Given the description of an element on the screen output the (x, y) to click on. 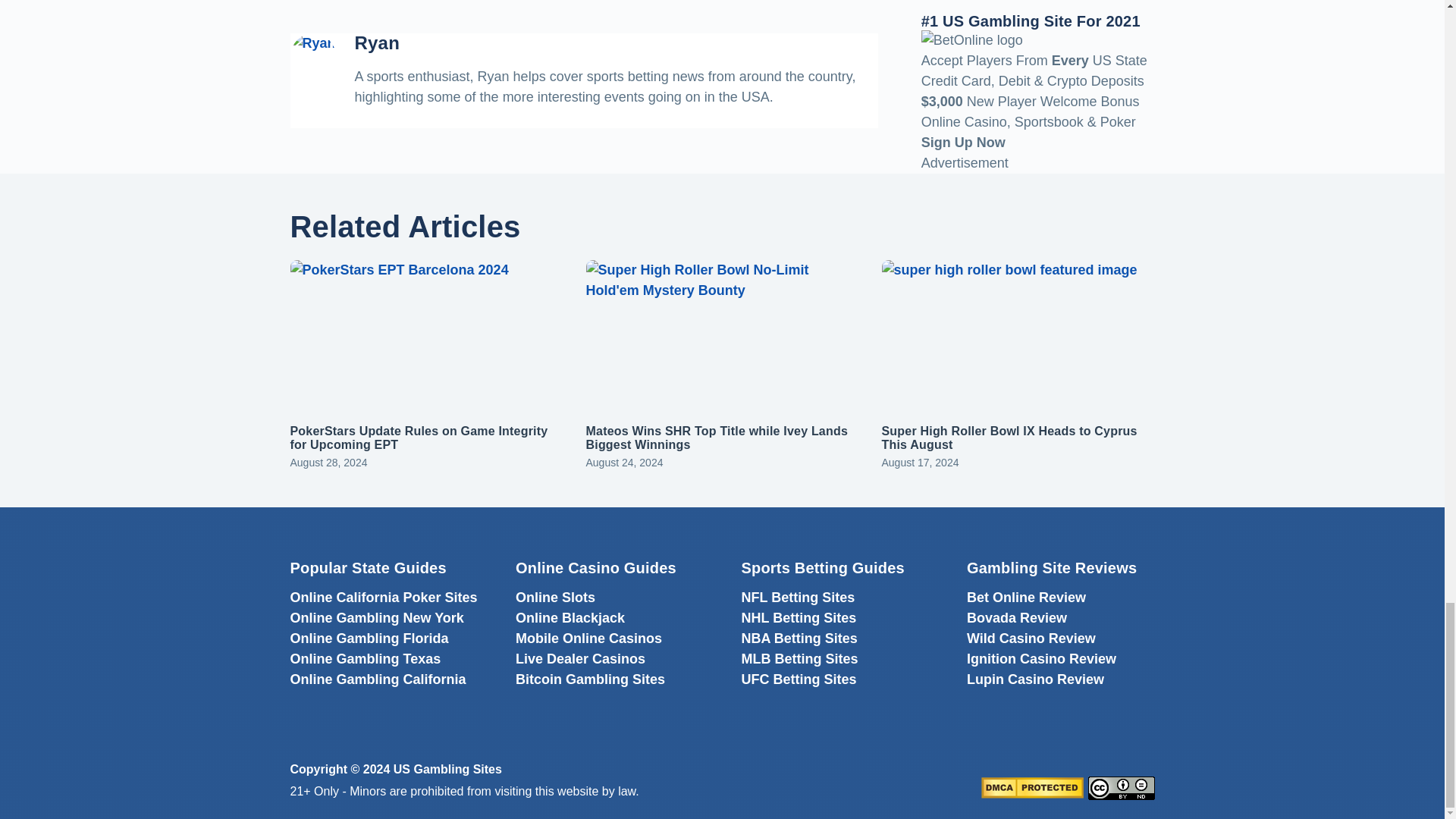
Bitcoin Gambling Sites (590, 679)
Online Slots (555, 597)
Online Gambling Texas (365, 658)
Online California Poker Sites (383, 597)
DMCA.com Protection Status (1032, 786)
Online Blackjack (569, 617)
Online Gambling Florida (368, 638)
Mateos Wins SHR Top Title while Ivey Lands Biggest Winnings (716, 438)
Online Gambling New York (376, 617)
PokerStars Update Rules on Game Integrity for Upcoming EPT (418, 438)
